Given the description of an element on the screen output the (x, y) to click on. 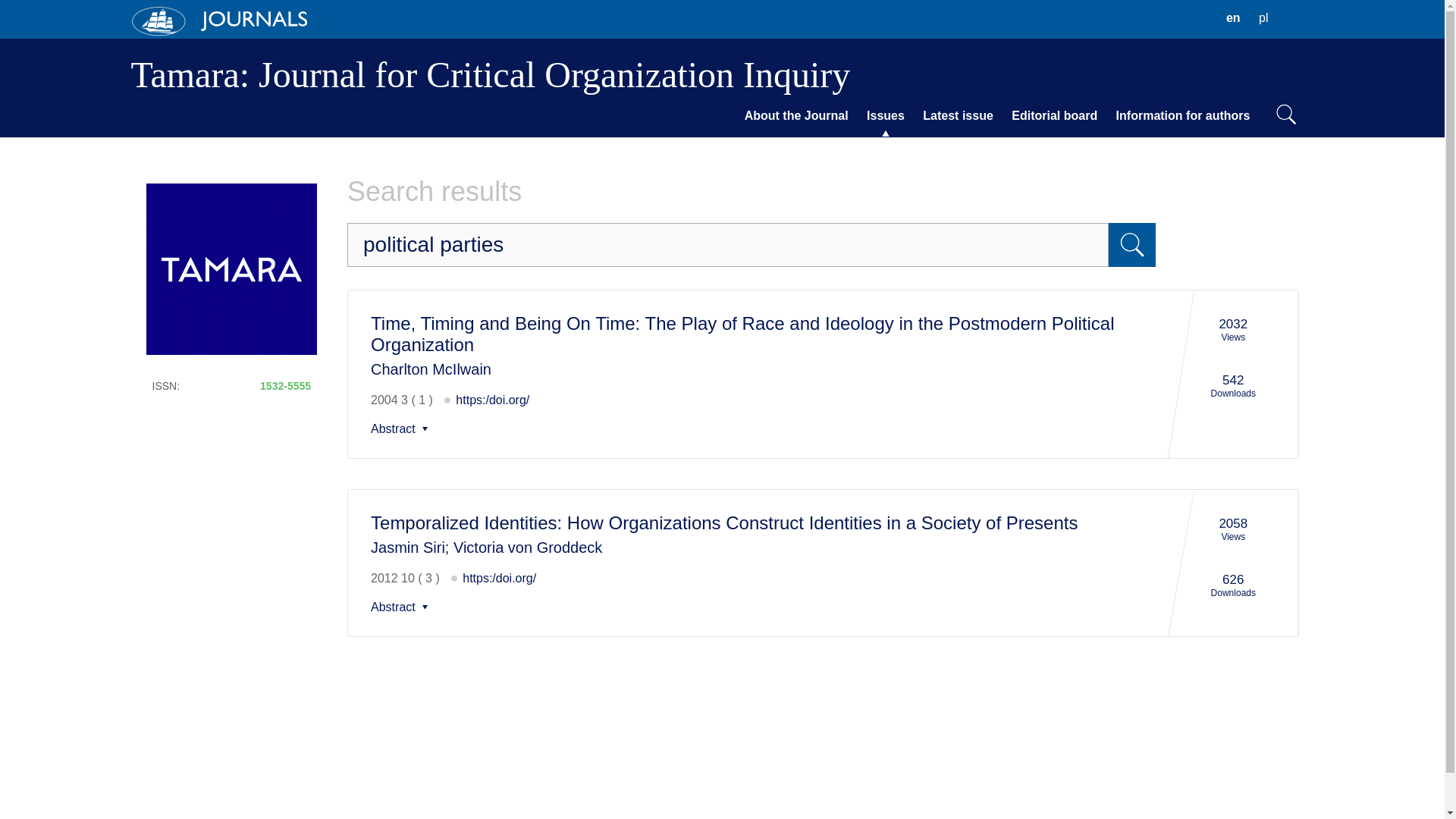
Latest issue (957, 115)
Tamara: Journal for Critical Organization Inquiry (490, 74)
Information for authors (1182, 115)
political parties (727, 244)
Issues (885, 115)
en (402, 428)
Editorial board (1232, 18)
